Given the description of an element on the screen output the (x, y) to click on. 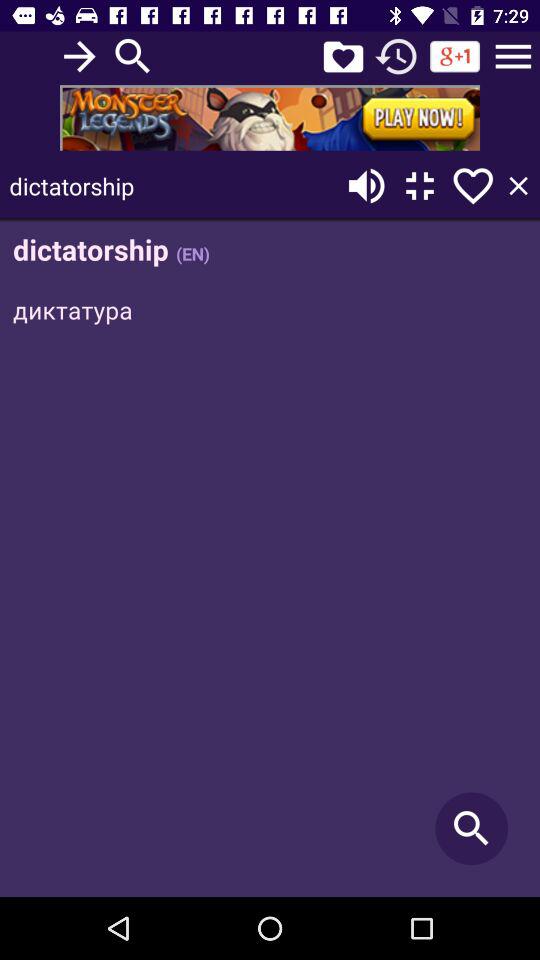
search your query (133, 56)
